Given the description of an element on the screen output the (x, y) to click on. 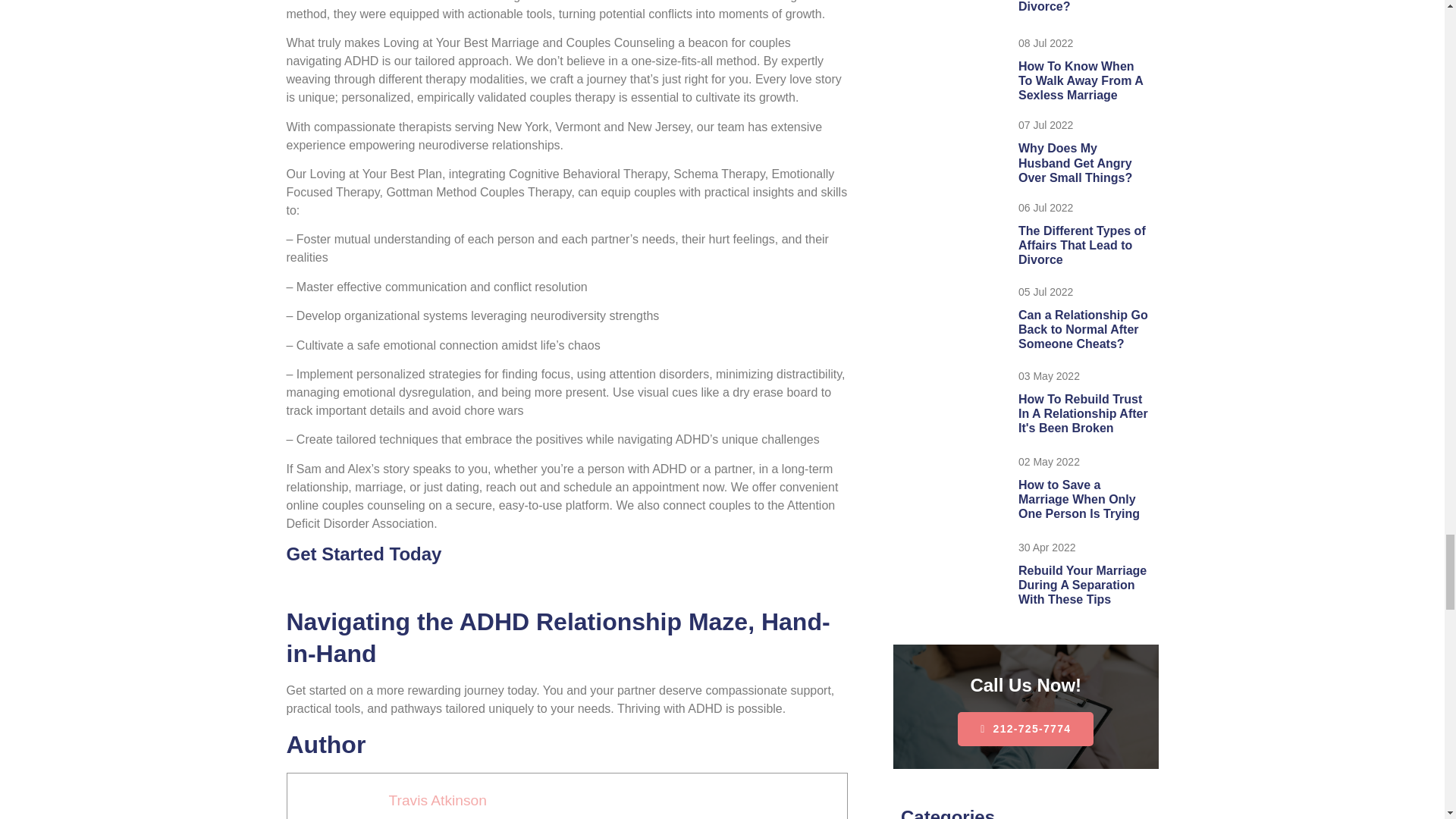
Travis Atkinson (437, 800)
